Given the description of an element on the screen output the (x, y) to click on. 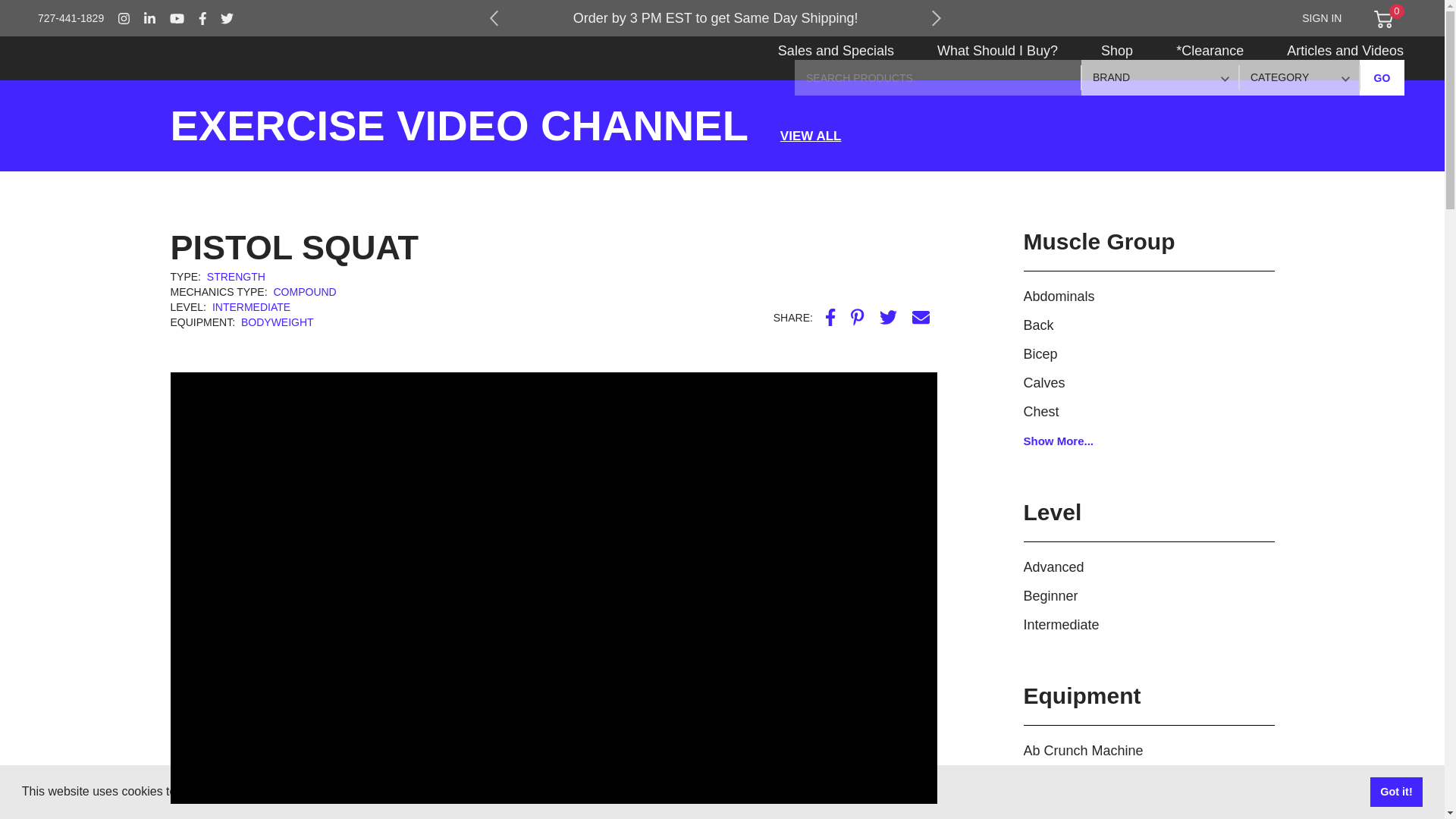
GO (1382, 77)
Shop (1117, 59)
GO (1382, 77)
SIGN IN (1320, 18)
Got it! (1396, 791)
727-441-1829 (71, 18)
Learn more (491, 791)
What Should I Buy? (997, 59)
Sales and Specials (836, 59)
